Given the description of an element on the screen output the (x, y) to click on. 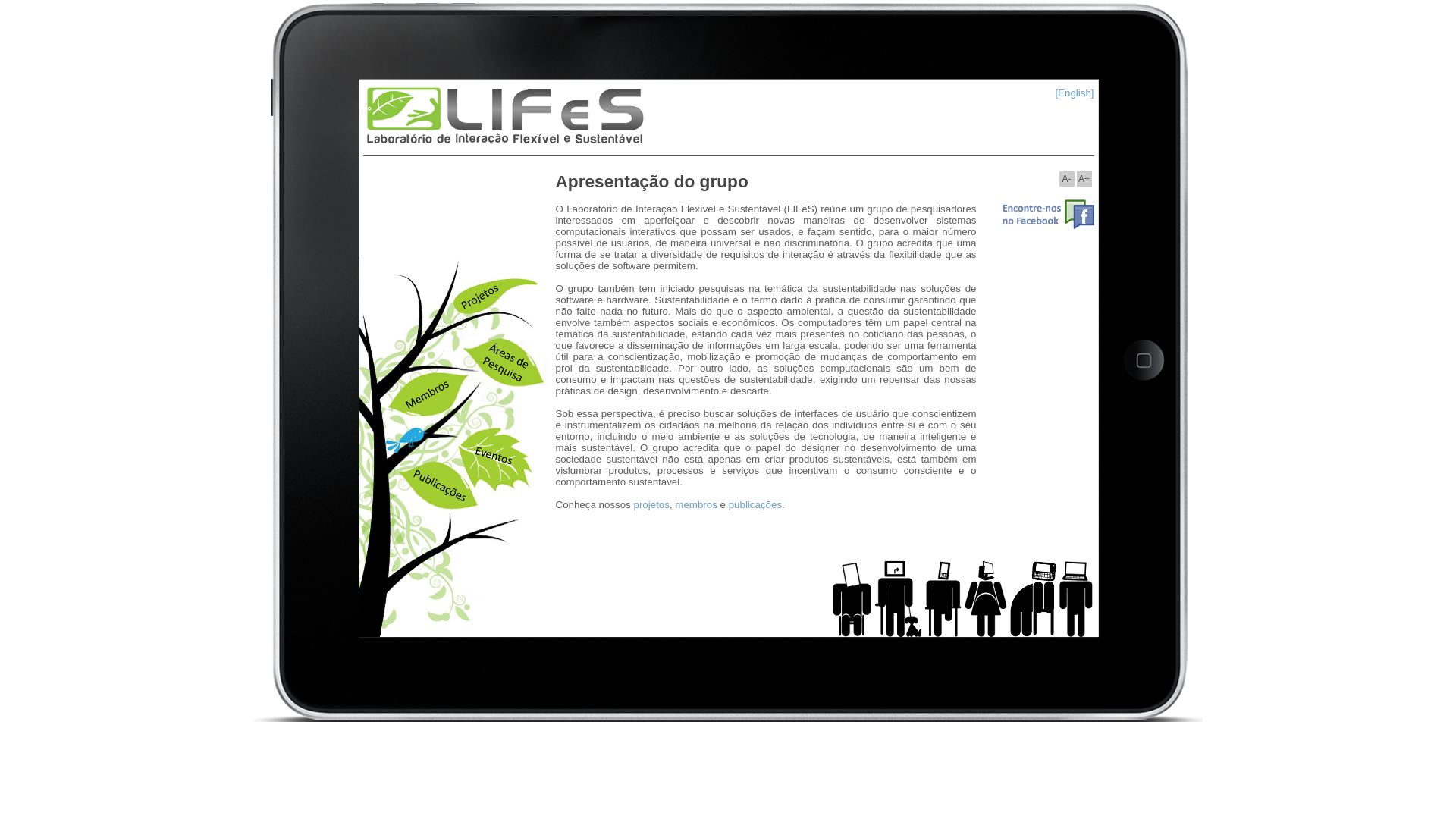
A- Element type: text (1065, 178)
membros Element type: text (695, 504)
projetos Element type: text (651, 504)
[English] Element type: text (1073, 92)
A+ Element type: text (1084, 178)
